Given the description of an element on the screen output the (x, y) to click on. 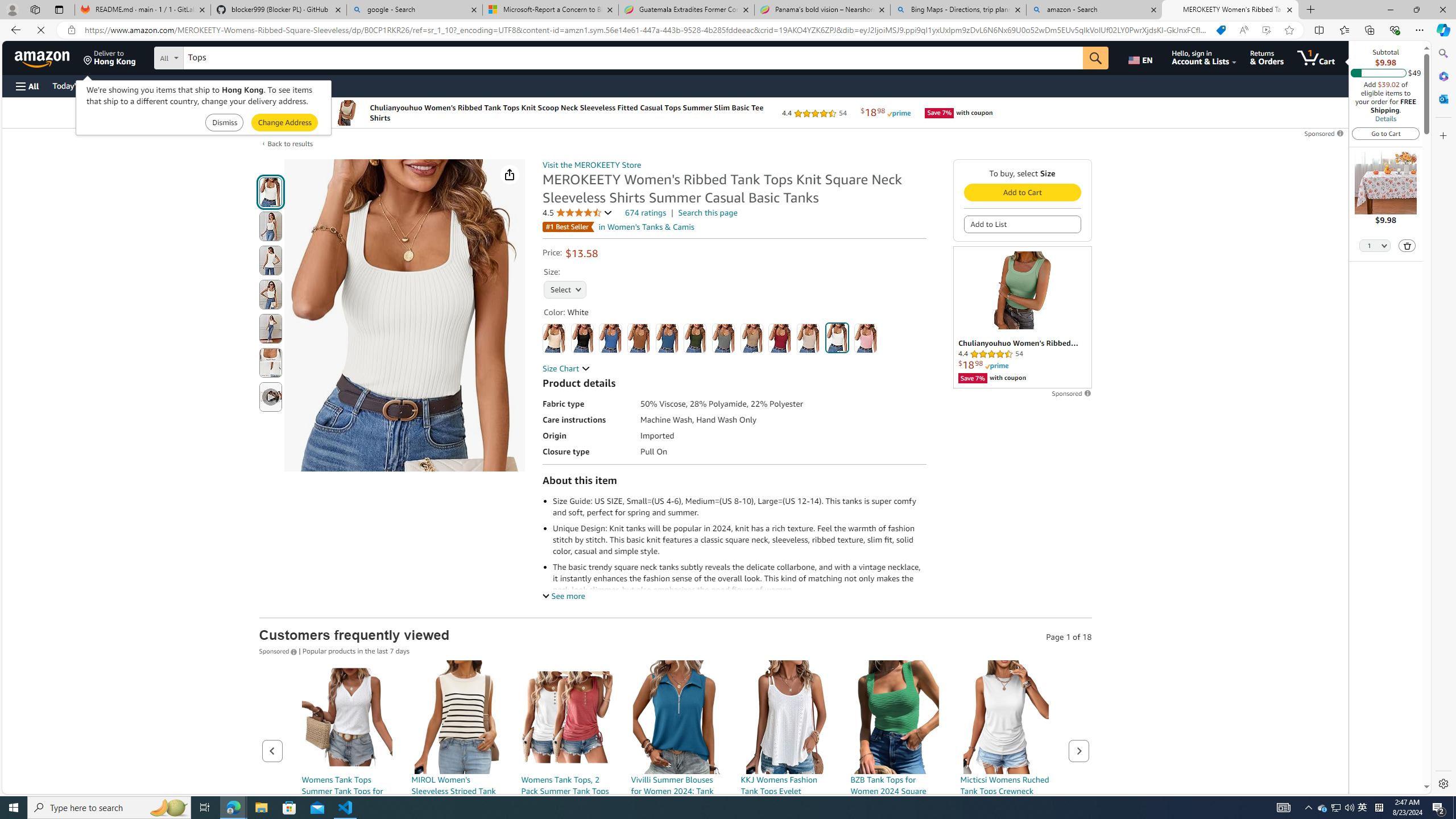
Caramel (638, 338)
Delete (1407, 245)
Pink (865, 338)
Red (779, 338)
674 ratings (645, 212)
#1 Best Seller in Women's Tanks & Camis (618, 226)
Hello, sign in Account & Lists (1203, 57)
Black (581, 338)
White (836, 337)
